Given the description of an element on the screen output the (x, y) to click on. 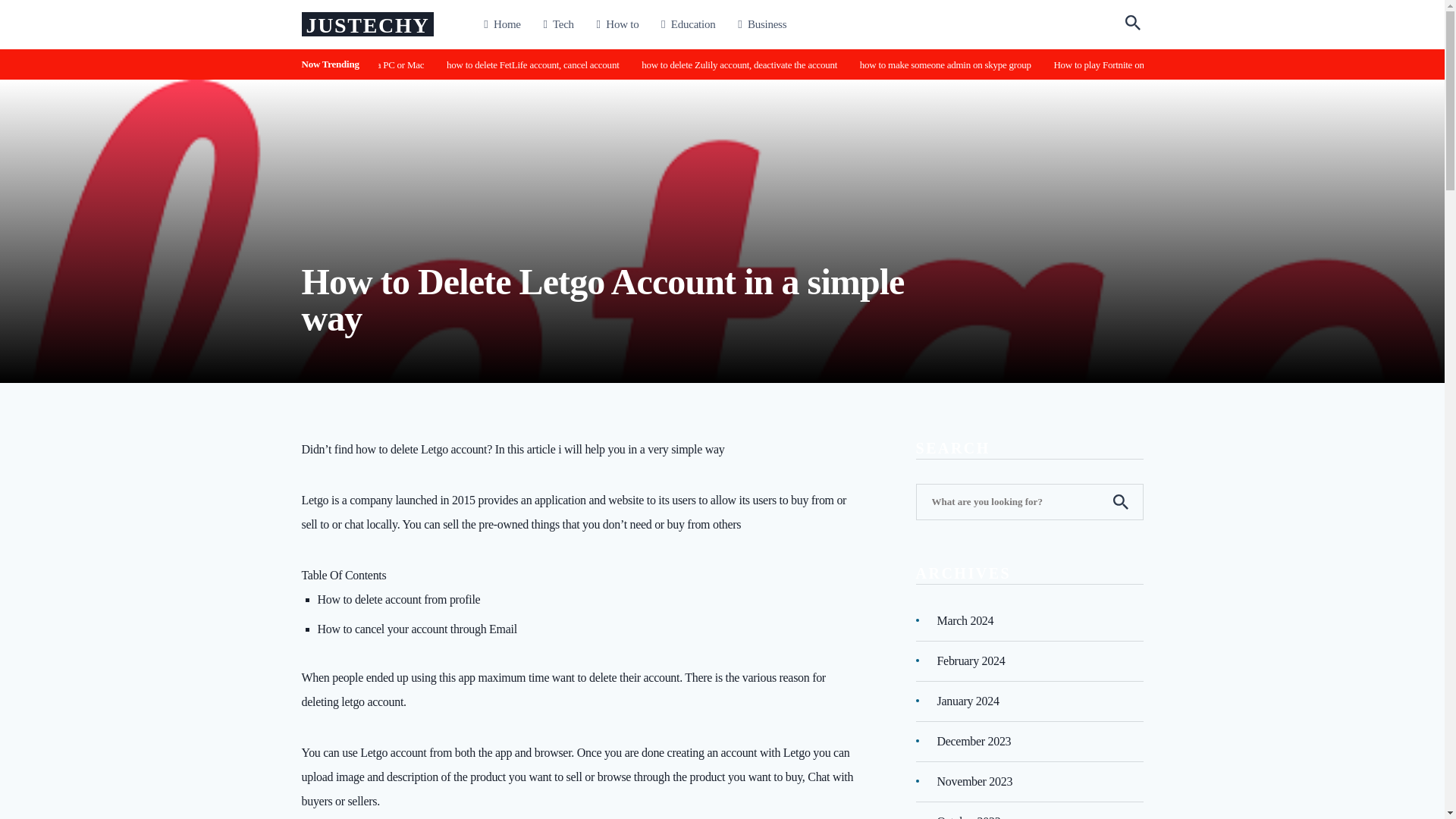
January 2024 (967, 700)
Tech (558, 24)
October 2023 (969, 816)
February 2024 (971, 659)
December 2023 (974, 739)
how to delete Zulily account, deactivate the account (854, 64)
How to play Fortnite on Chromebook in 2022 (1220, 64)
How to (617, 24)
Business (762, 24)
how to make someone admin on skype group (1026, 64)
how to delete Zulily account, deactivate the account (821, 64)
November 2023 (975, 780)
how to delete FetLife account, cancel account (617, 64)
how to make someone admin on skype group (1059, 64)
How to Log Out of Telegram on a PC or Mac (454, 64)
